Given the description of an element on the screen output the (x, y) to click on. 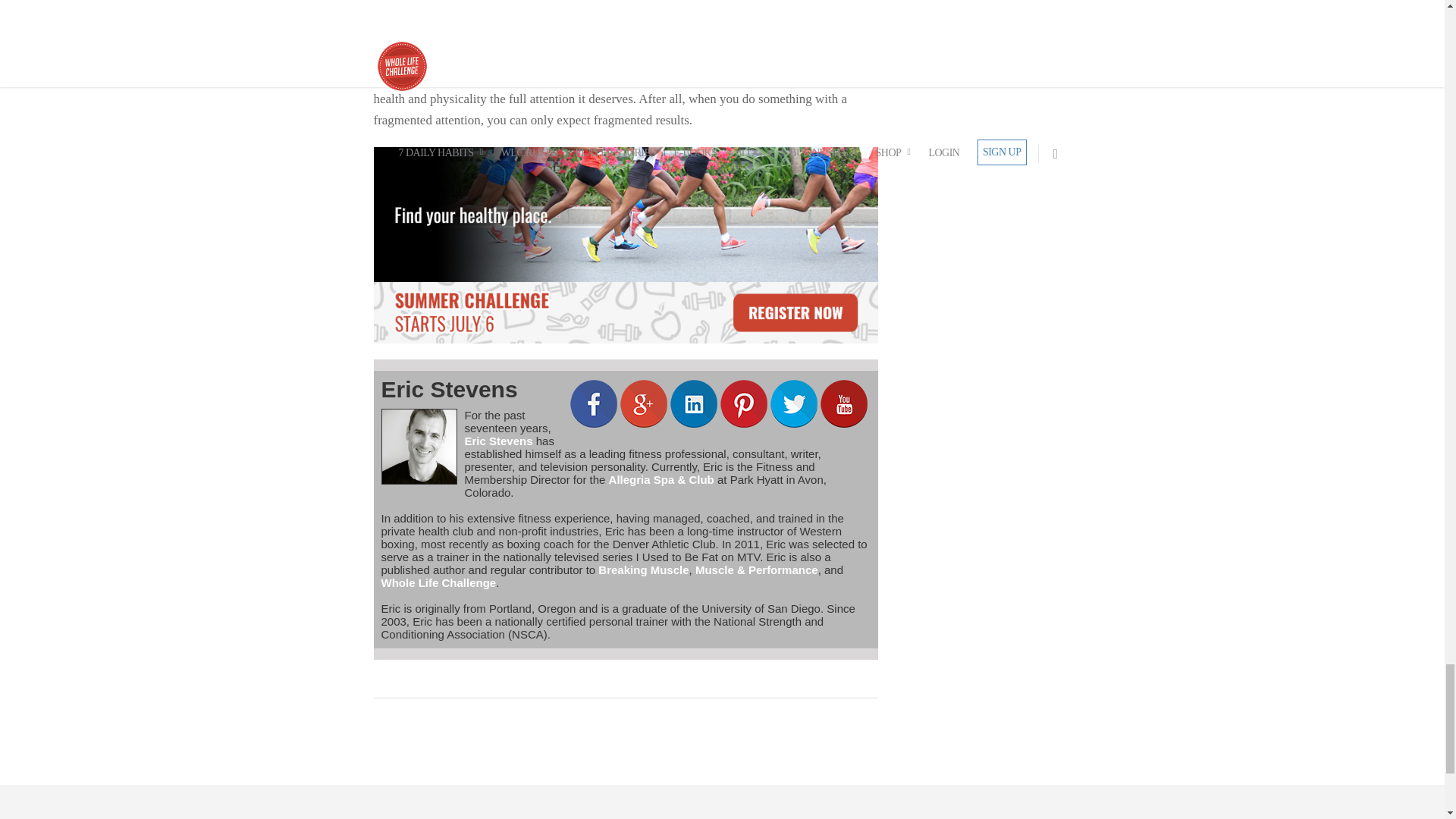
Eric Stevens (448, 389)
